Given the description of an element on the screen output the (x, y) to click on. 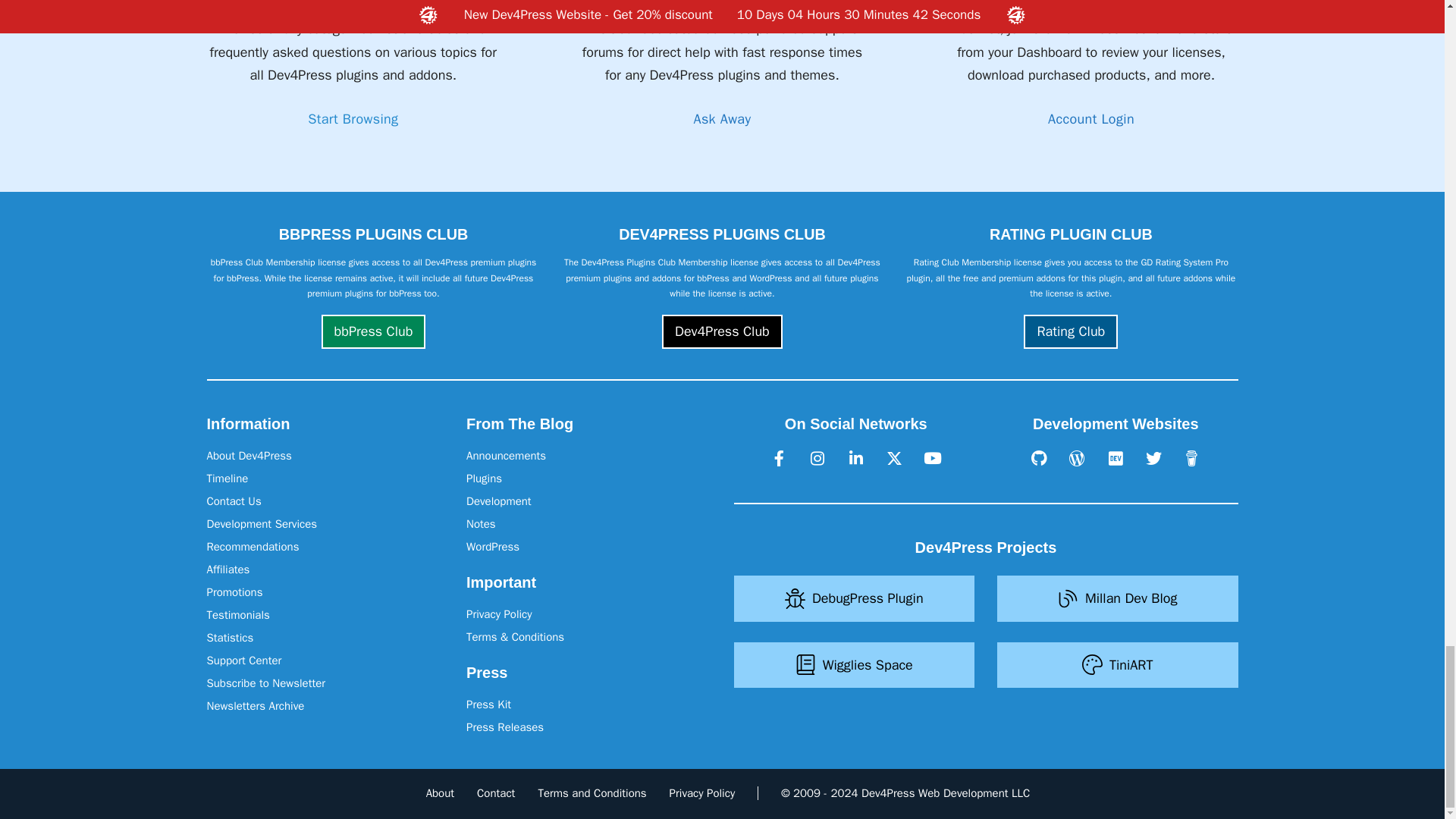
Start Browsing (352, 119)
Ask Away (722, 119)
Account Login (1091, 119)
